Given the description of an element on the screen output the (x, y) to click on. 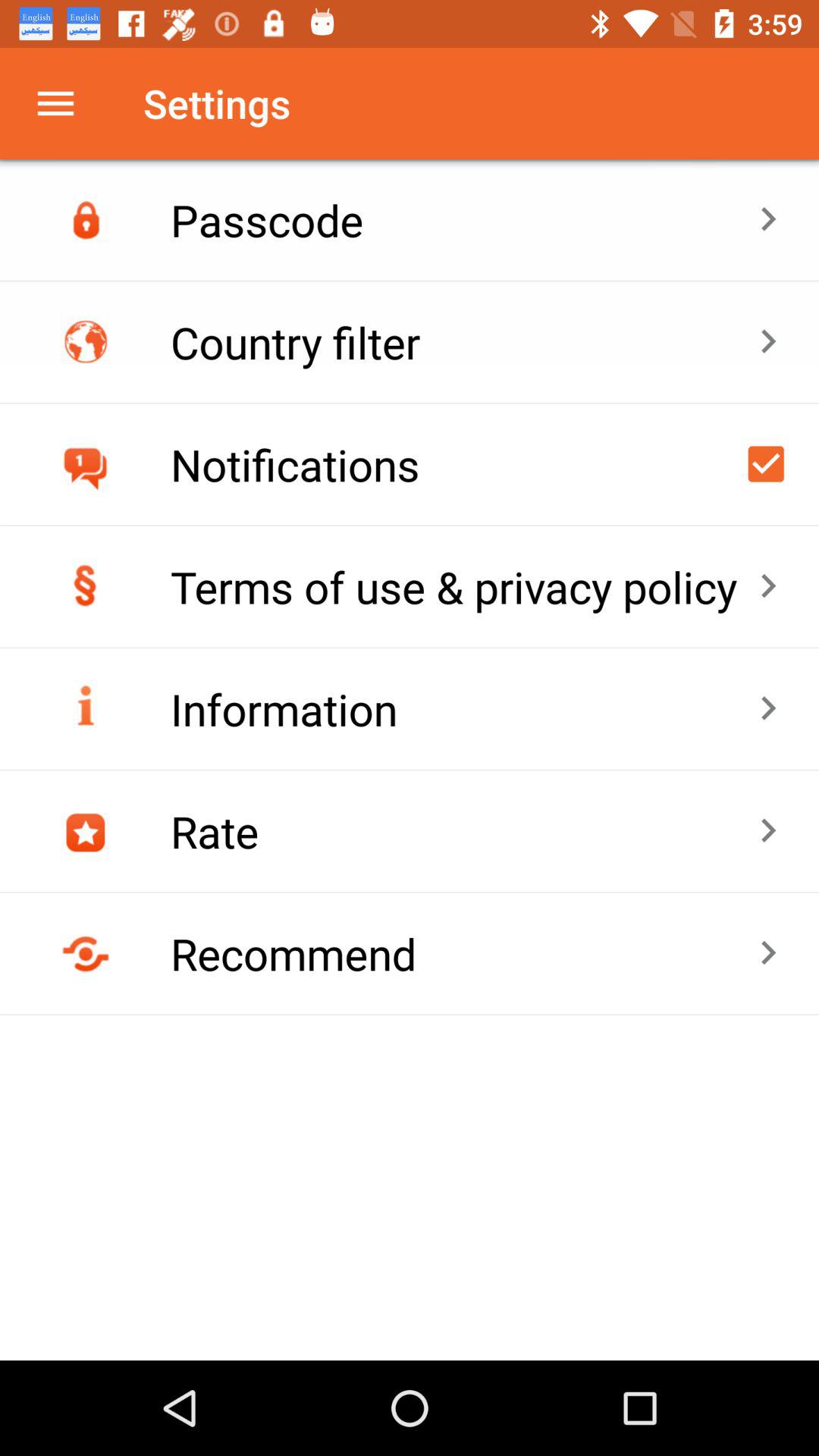
toggle notifications (765, 463)
